Given the description of an element on the screen output the (x, y) to click on. 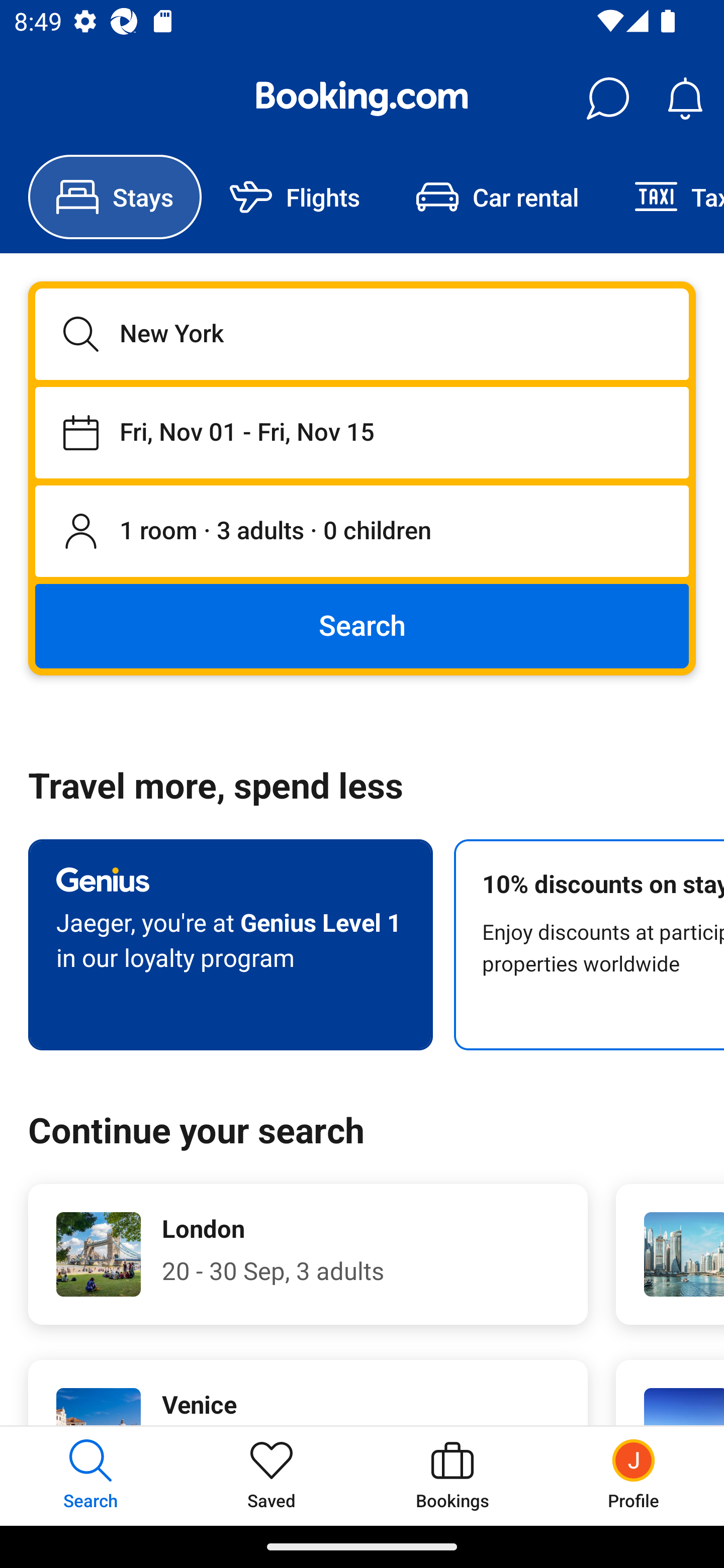
Messages (607, 98)
Notifications (685, 98)
Stays (114, 197)
Flights (294, 197)
Car rental (497, 197)
Taxi (665, 197)
New York (361, 333)
Staying from Fri, Nov 01 until Fri, Nov 15 (361, 432)
1 room, 3 adults, 0 children (361, 531)
Search (361, 625)
London 20 - 30 Sep, 3 adults (307, 1253)
Saved (271, 1475)
Bookings (452, 1475)
Profile (633, 1475)
